Given the description of an element on the screen output the (x, y) to click on. 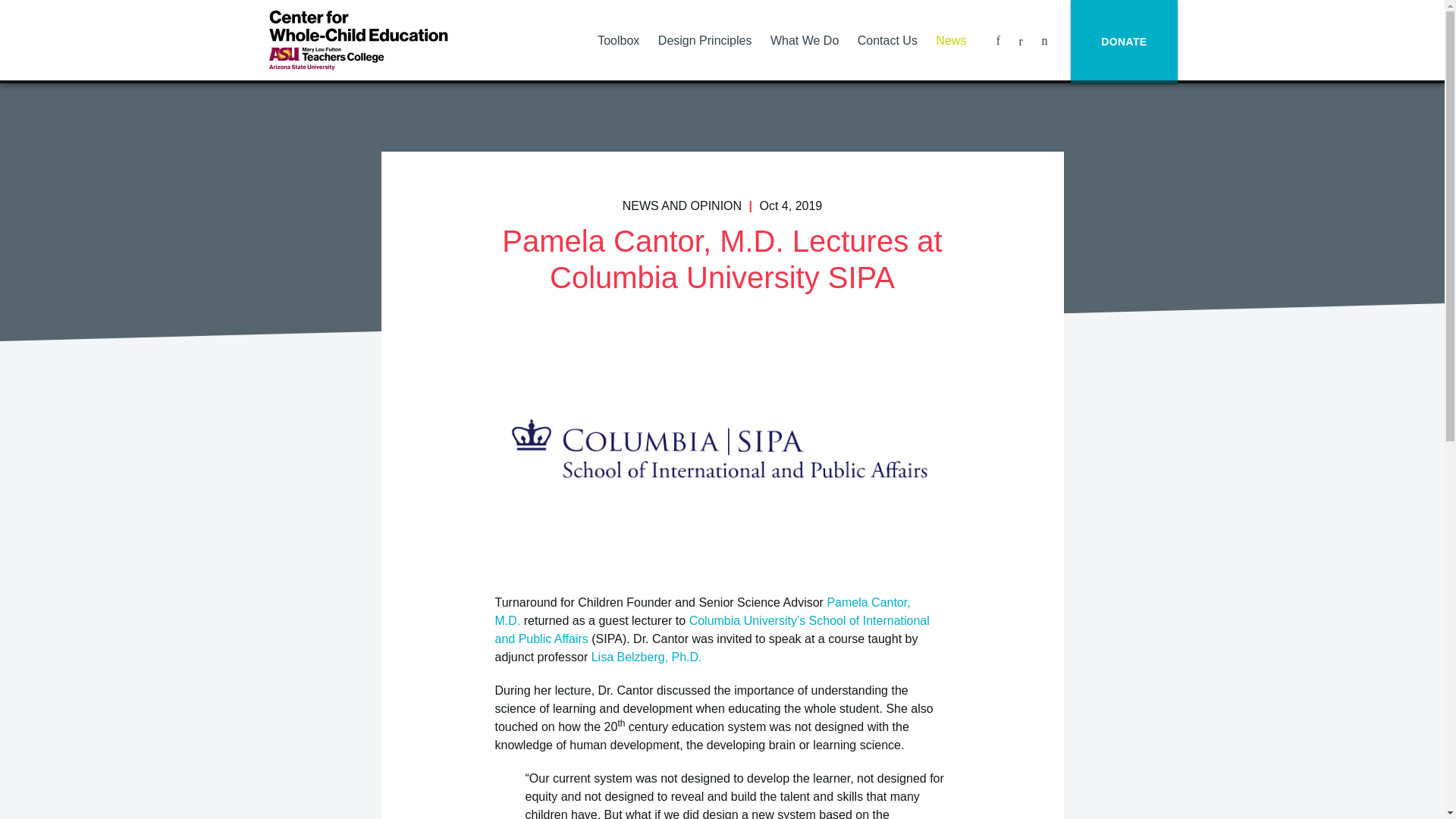
DONATE (1123, 41)
Toolbox (617, 40)
Turnaround For Children (357, 39)
News (951, 40)
What We Do (803, 40)
Contact Us (886, 40)
Design Principles (703, 40)
